Given the description of an element on the screen output the (x, y) to click on. 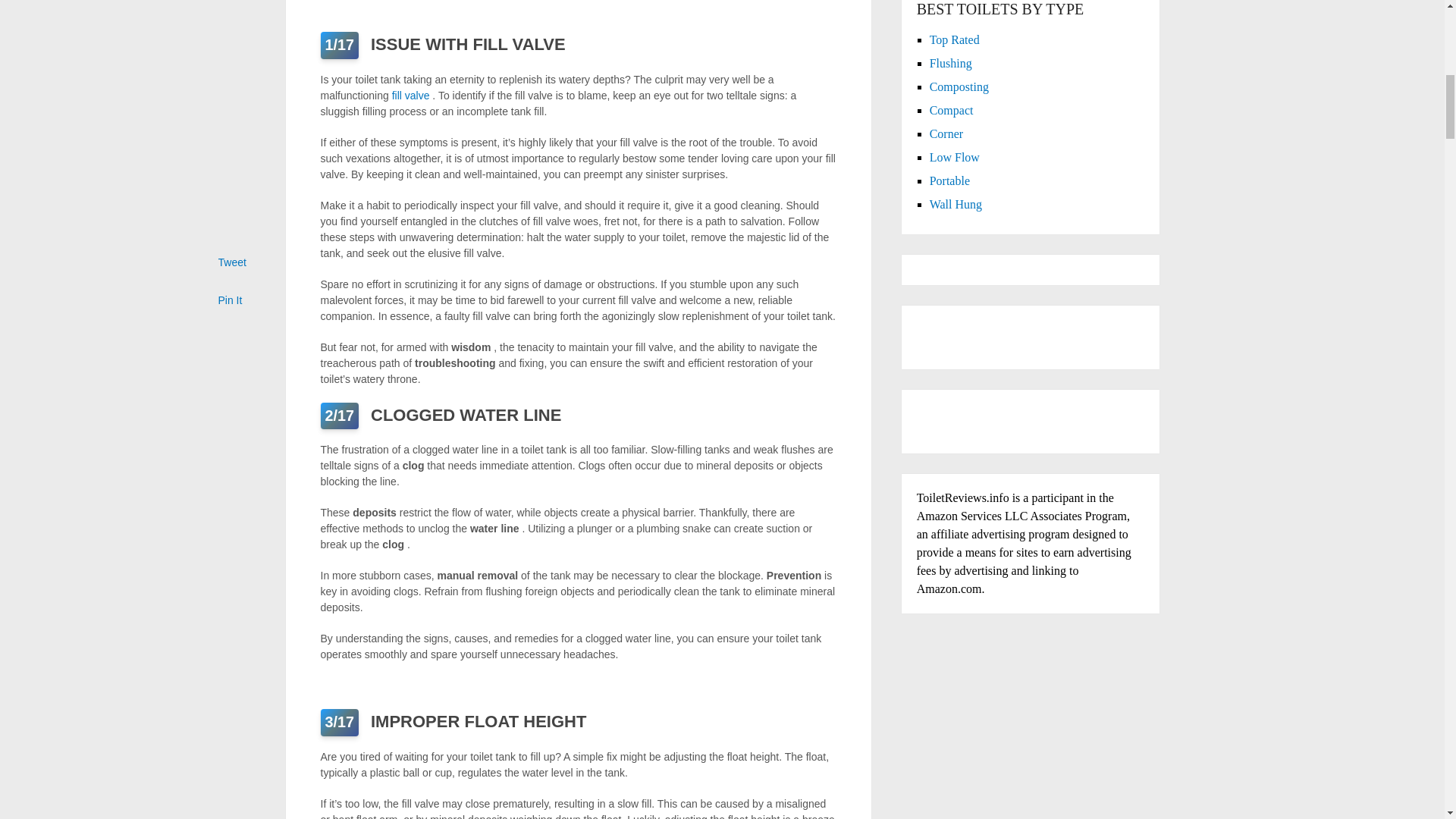
fill valve (411, 95)
